Given the description of an element on the screen output the (x, y) to click on. 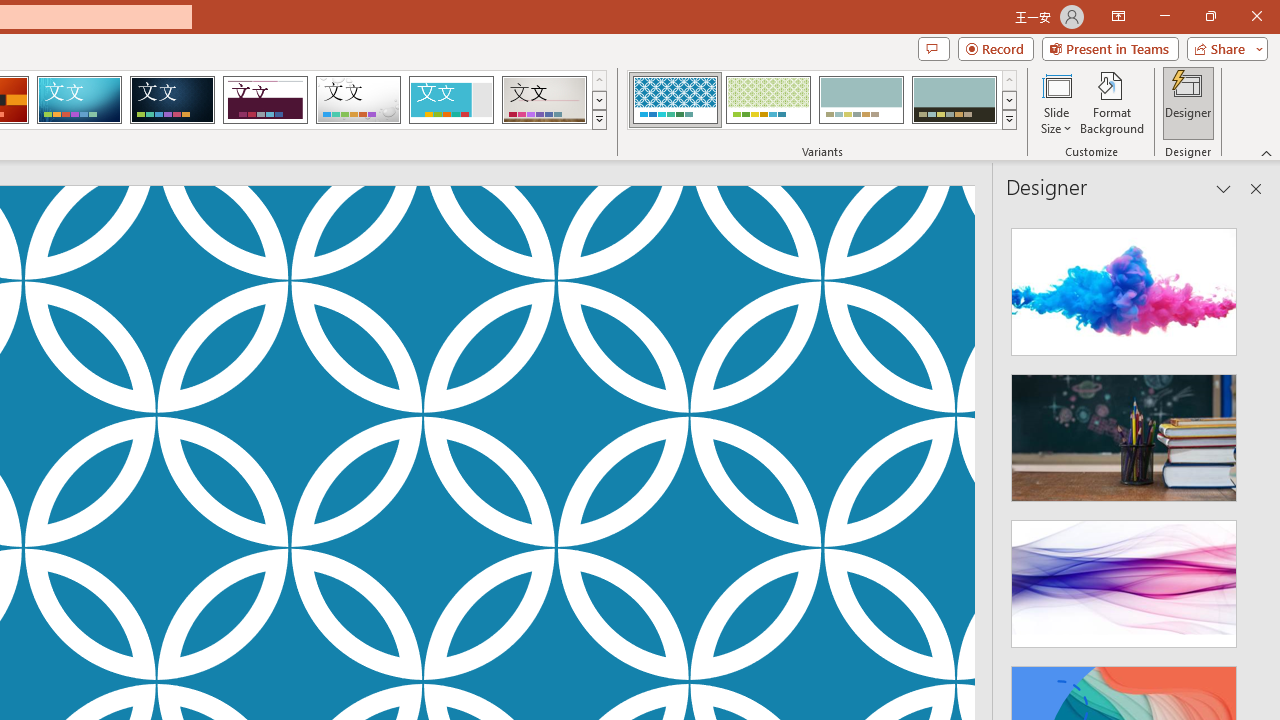
Row up (1009, 79)
Integral Variant 4 (953, 100)
Row Down (1009, 100)
